Given the description of an element on the screen output the (x, y) to click on. 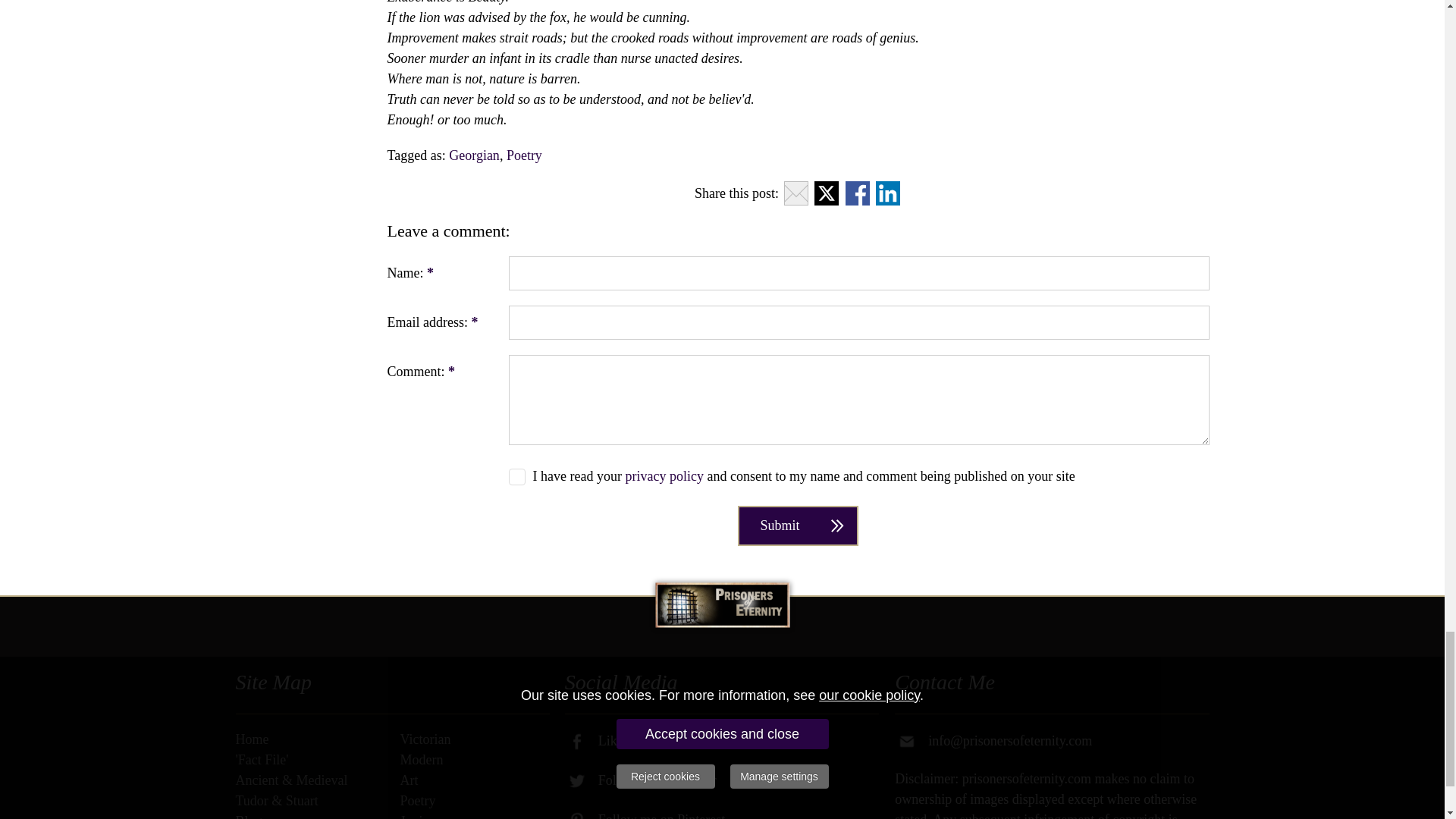
Poetry (523, 155)
privacy policy (663, 476)
Submit (797, 525)
Georgian (473, 155)
